Given the description of an element on the screen output the (x, y) to click on. 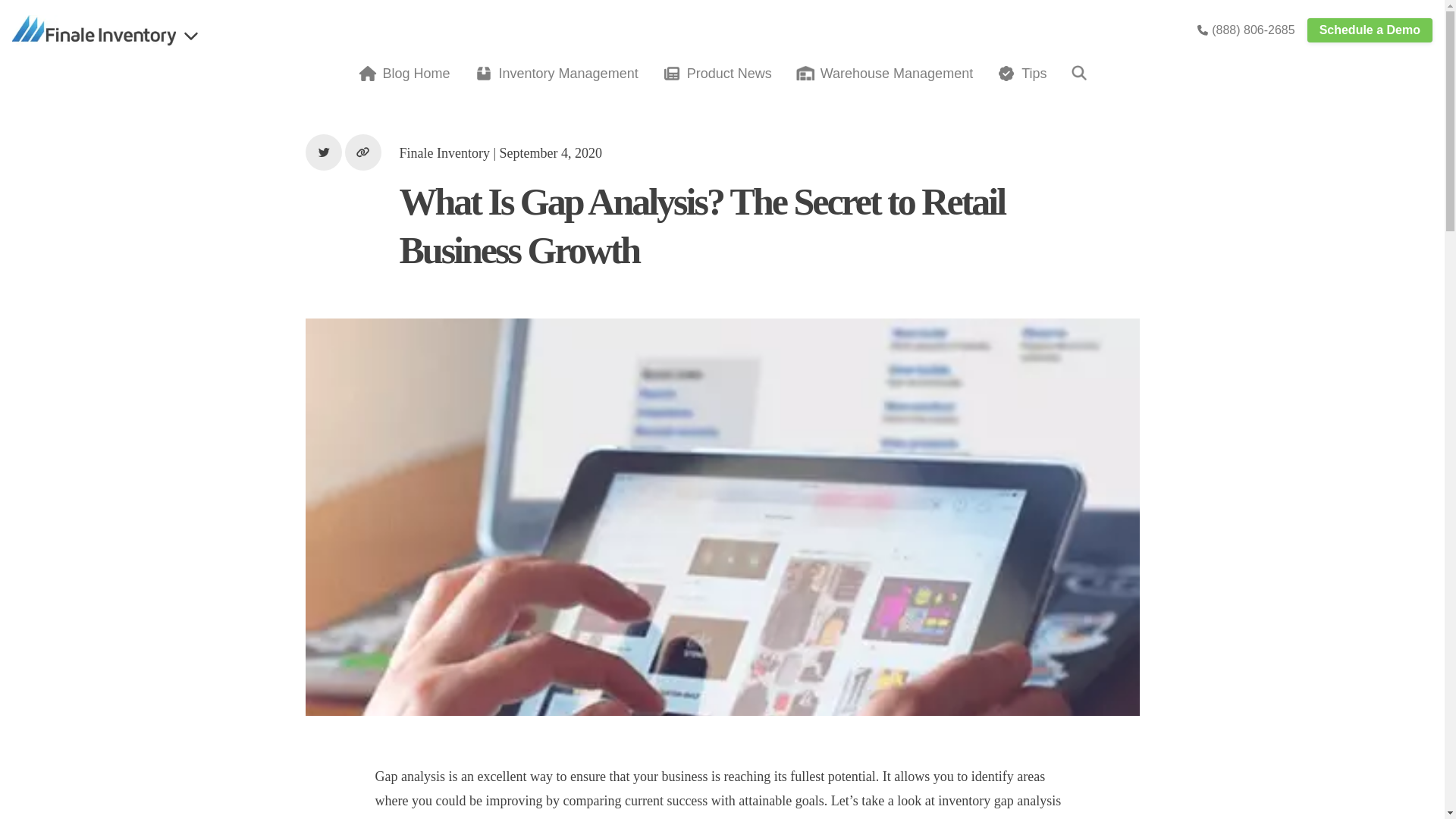
Product News (716, 73)
Warehouse Management (884, 73)
Tips (1021, 73)
Blog Home (403, 73)
Schedule a Demo (1369, 30)
Copy link to clipboard (361, 152)
Inventory Management (556, 73)
